Given the description of an element on the screen output the (x, y) to click on. 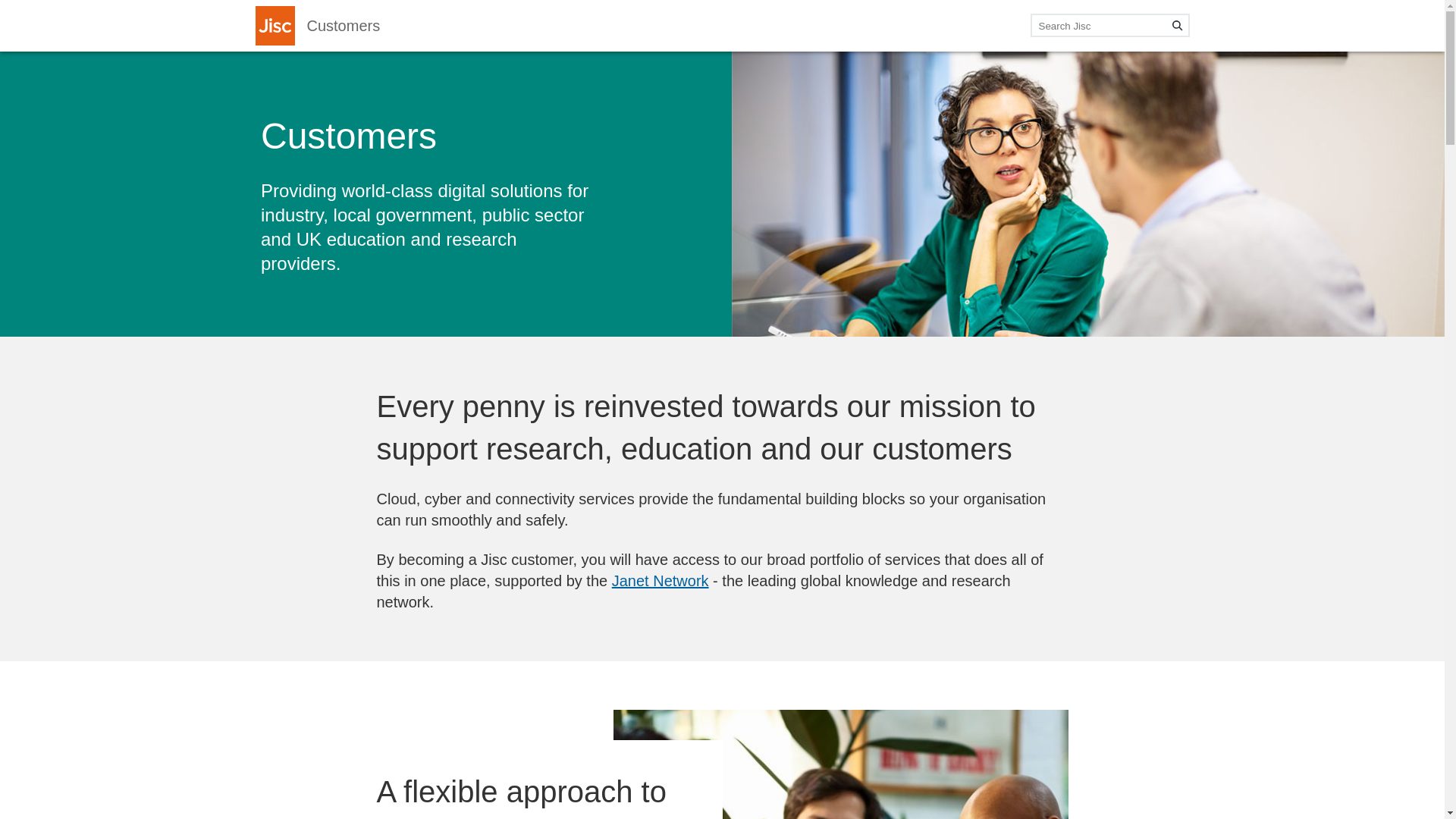
Jisc homepage (274, 25)
Search Jisc (1109, 24)
Search (1176, 25)
Customers (342, 25)
Janet Network (660, 580)
